Given the description of an element on the screen output the (x, y) to click on. 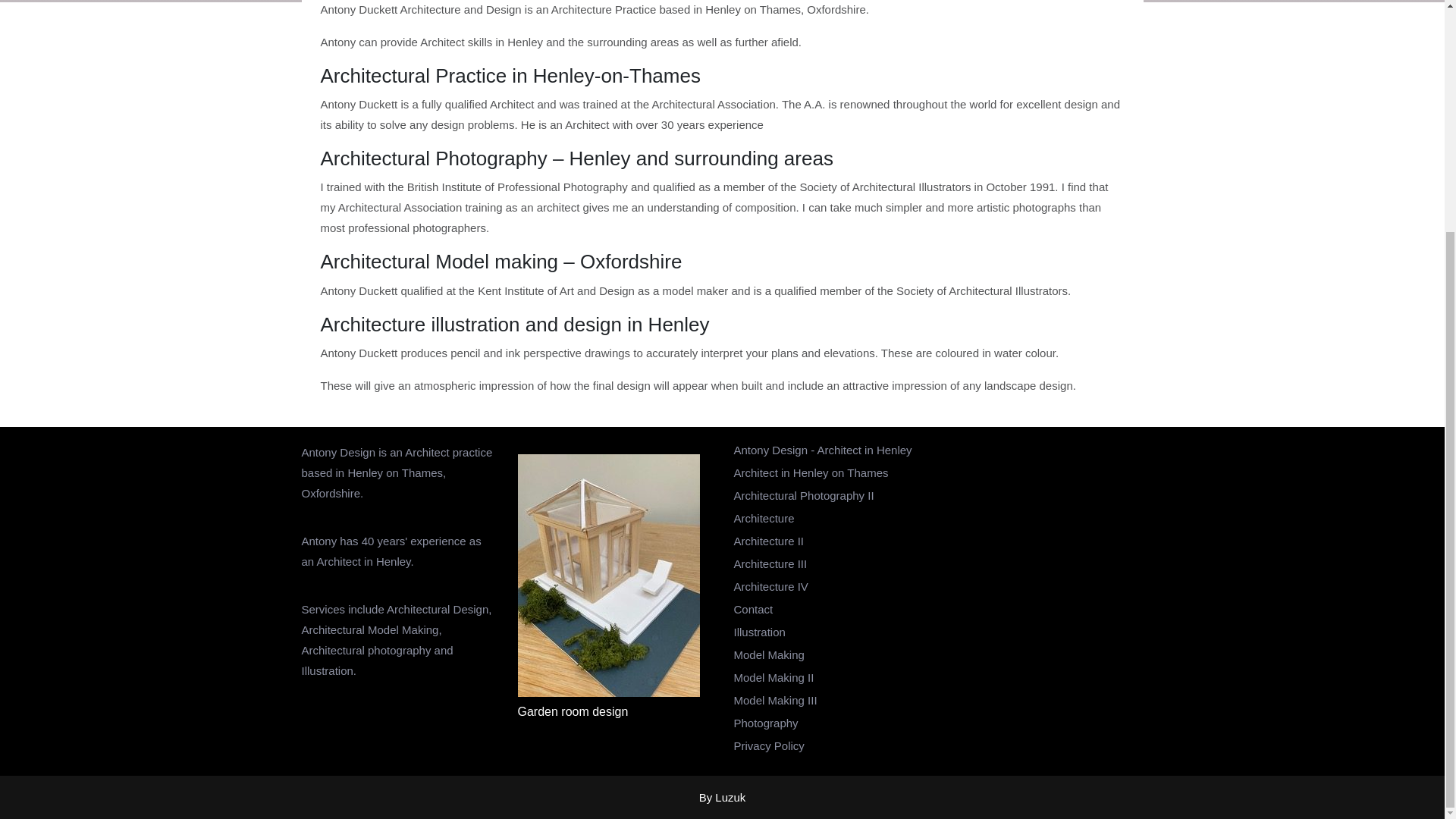
Architecture III (770, 563)
Antony Design - Architect in Henley (822, 449)
Architecture IV (770, 585)
Architecture II (769, 540)
Illustration (759, 631)
Model Making II (773, 676)
Model Making III (774, 699)
Privacy Policy (769, 745)
Architectural Photography II (804, 495)
Architecture (763, 517)
Architect in Henley on Thames (810, 472)
Contact (753, 608)
Photography (765, 722)
Model Making (769, 654)
